Given the description of an element on the screen output the (x, y) to click on. 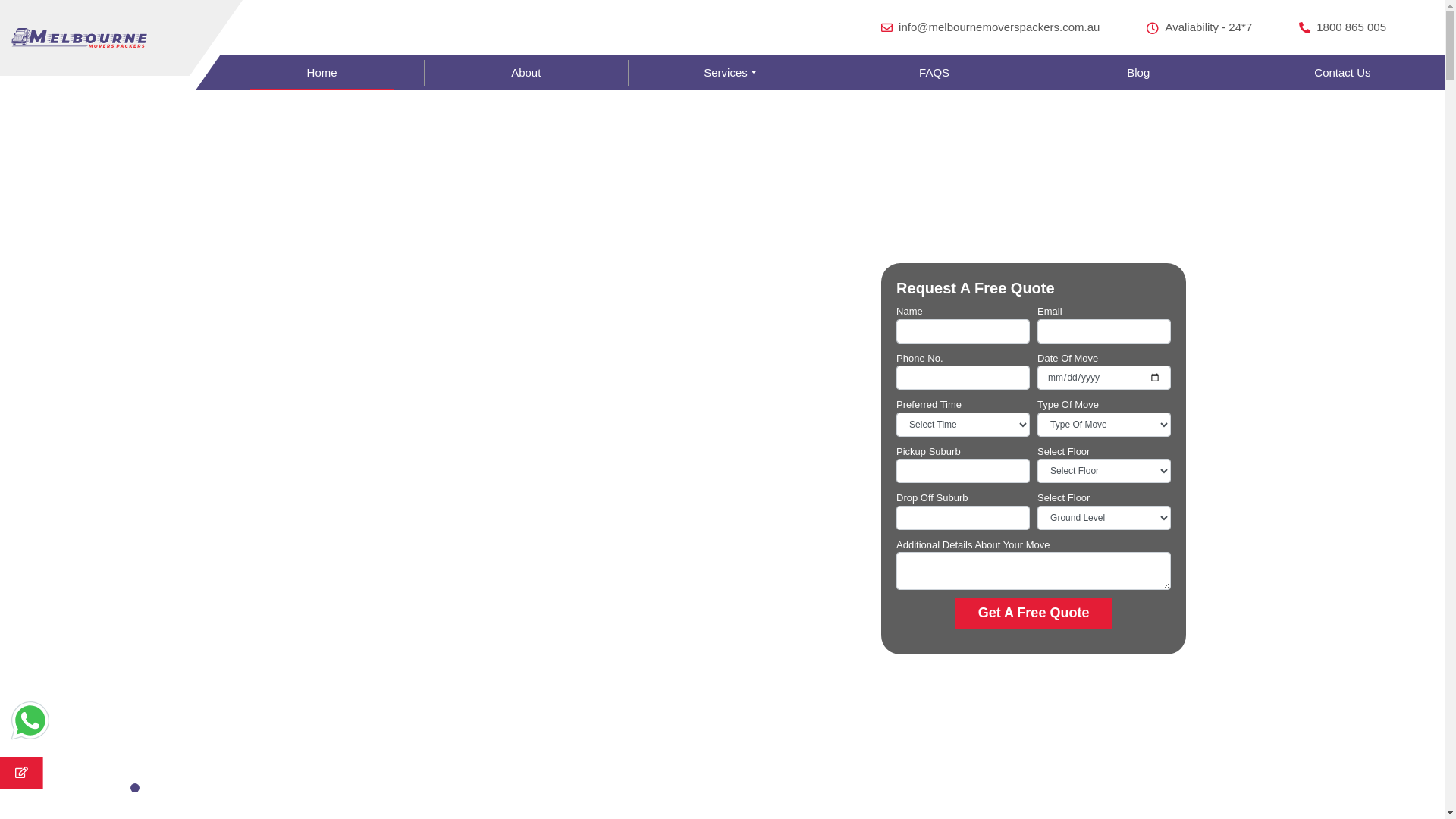
Home Element type: text (321, 72)
Contact Us Element type: text (1342, 72)
Blog Element type: text (1138, 72)
FAQS Element type: text (934, 72)
1800 865 005 Element type: text (1342, 27)
About Element type: text (525, 72)
Get A Free Quote Element type: text (1033, 612)
Whatsapp Element type: hover (30, 720)
Services Element type: text (729, 72)
info@melbournemoverspackers.com.au Element type: text (990, 27)
